Given the description of an element on the screen output the (x, y) to click on. 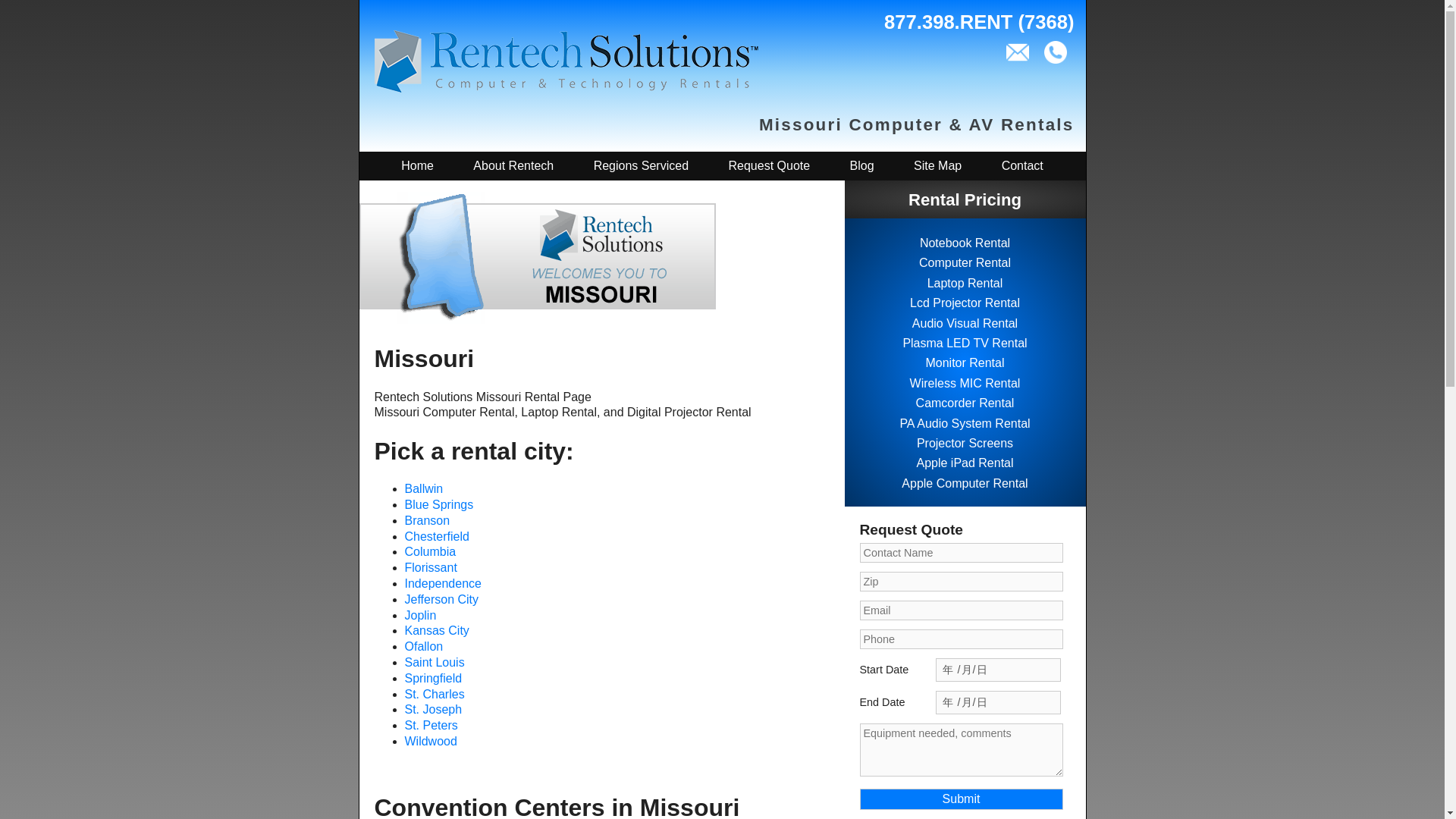
Branson (426, 520)
Columbia (430, 551)
Chesterfield (436, 535)
About Rentech (513, 165)
Ballwin (424, 488)
Regions Serviced (640, 165)
Blue Springs (439, 504)
Home (416, 165)
Florissant (430, 567)
